Given the description of an element on the screen output the (x, y) to click on. 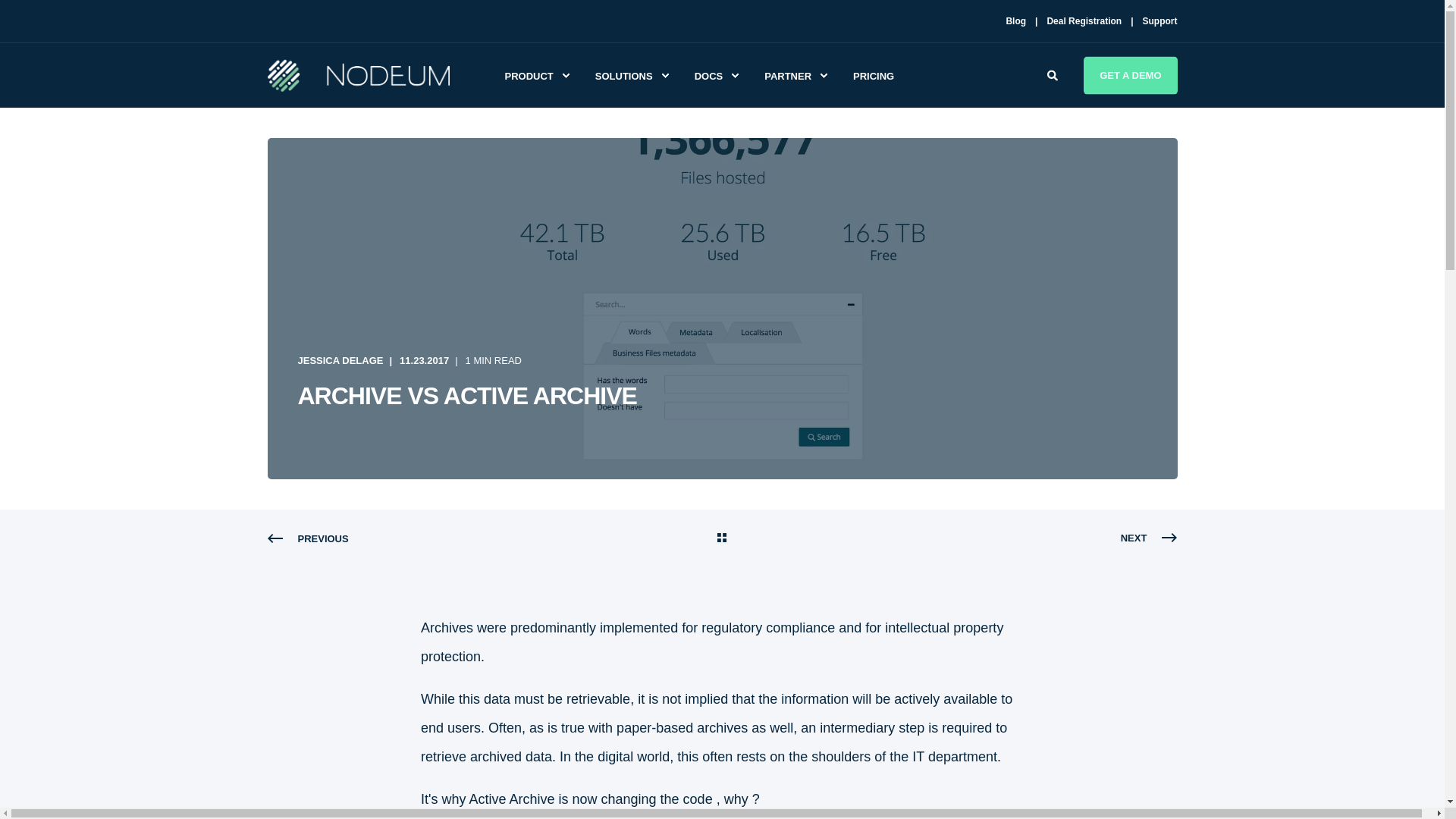
Deal Registration (1083, 20)
Support (1158, 20)
Blog (1016, 20)
